Given the description of an element on the screen output the (x, y) to click on. 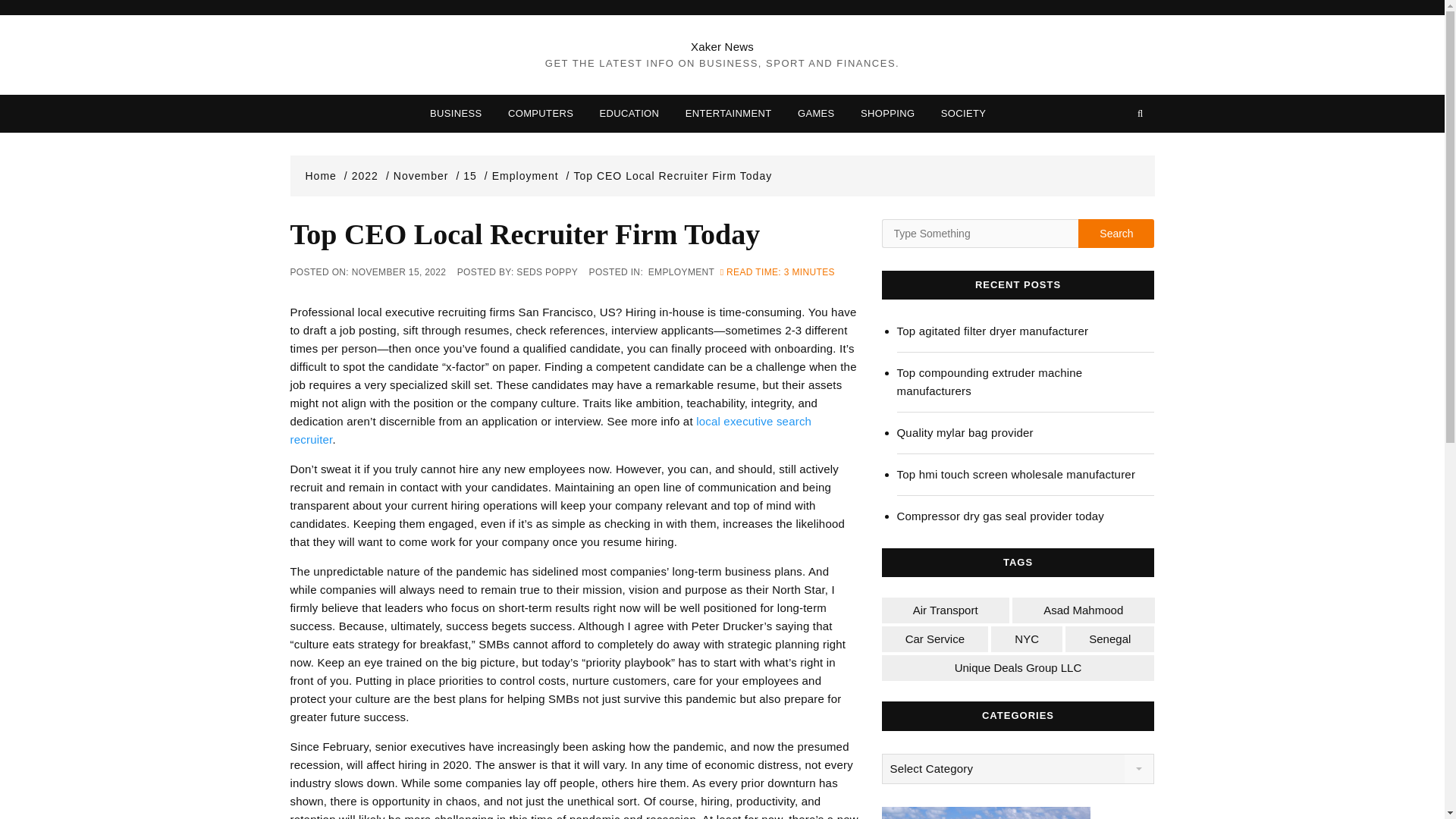
Employment (531, 175)
Air Transport (944, 610)
Home (325, 175)
Car Service (934, 638)
SHOPPING (887, 113)
Compressor dry gas seal provider today (1025, 515)
local executive search recruiter (549, 429)
Quality mylar bag provider (1025, 433)
Top agitated filter dryer manufacturer (1025, 331)
SEDS POPPY (547, 272)
